Given the description of an element on the screen output the (x, y) to click on. 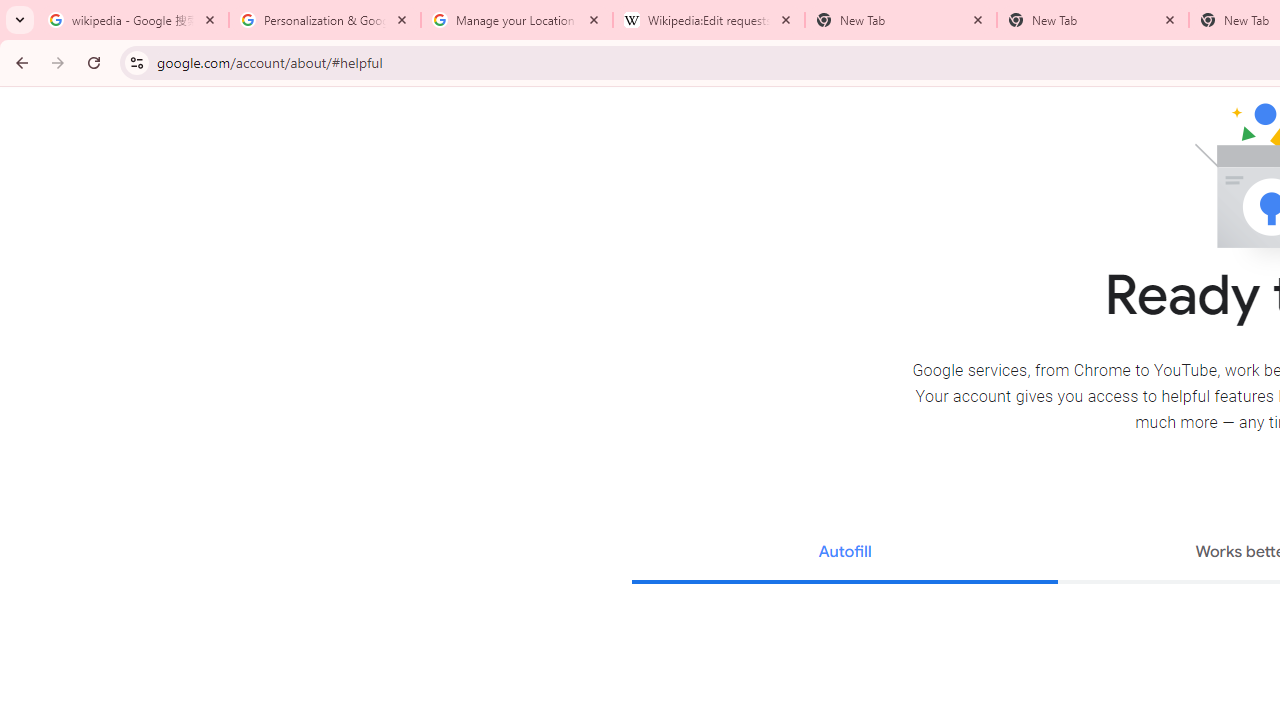
Personalization & Google Search results - Google Search Help (325, 20)
Wikipedia:Edit requests - Wikipedia (709, 20)
New Tab (1093, 20)
Manage your Location History - Google Search Help (517, 20)
Autofill (844, 553)
